Given the description of an element on the screen output the (x, y) to click on. 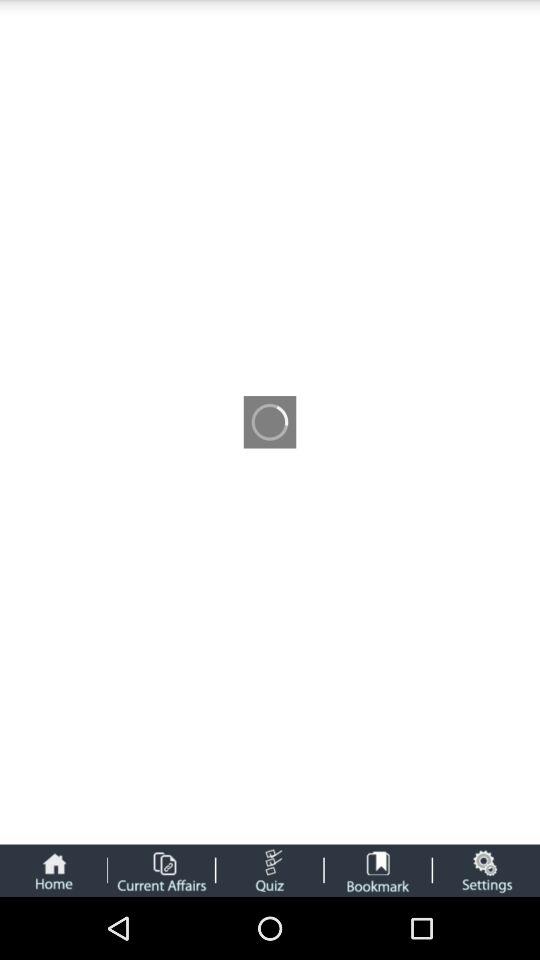
bookmark button (378, 870)
